Given the description of an element on the screen output the (x, y) to click on. 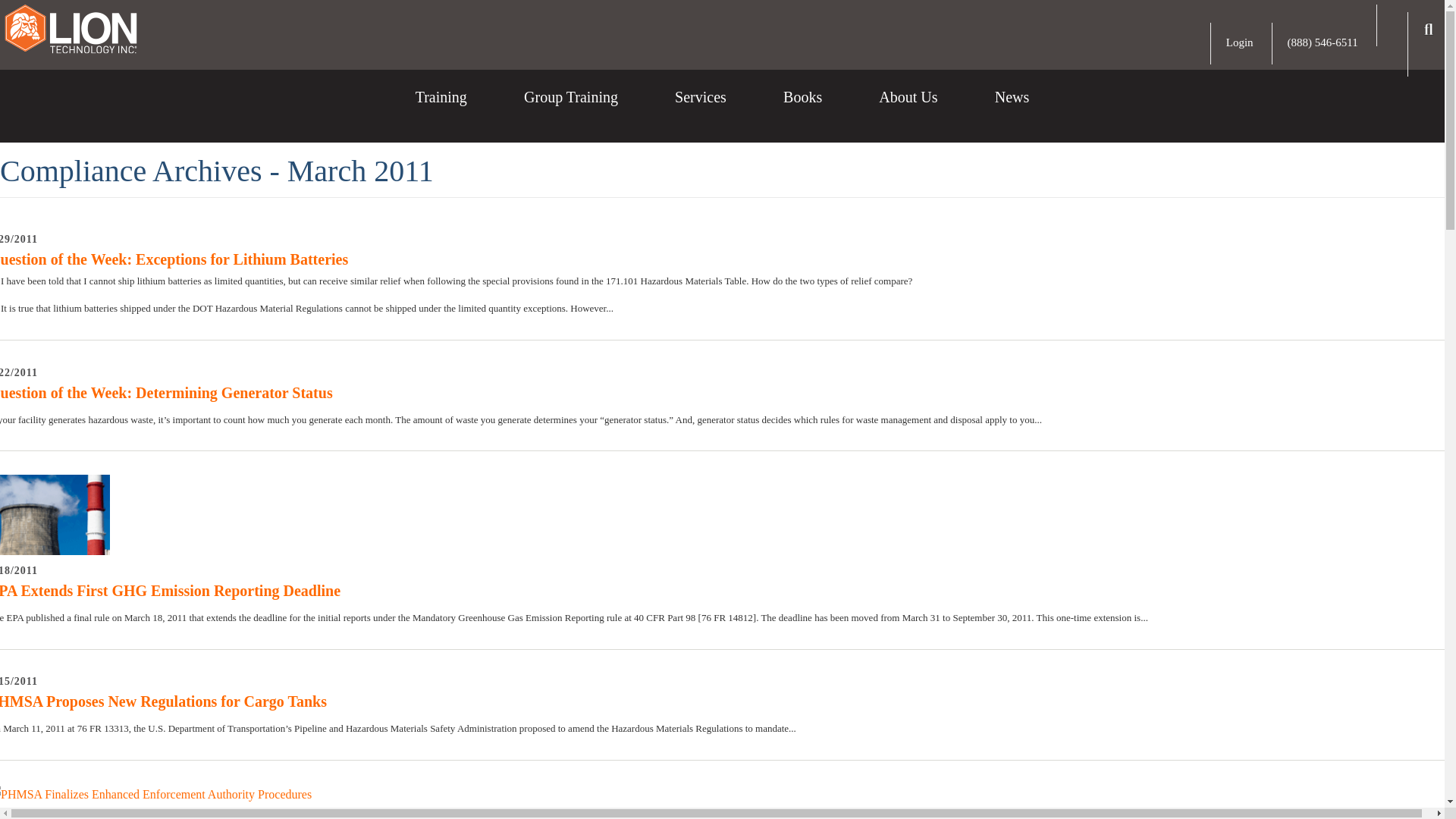
Books (802, 109)
Group Training (570, 109)
Login (1239, 42)
Training (440, 109)
About Us (908, 109)
Services (700, 109)
